Given the description of an element on the screen output the (x, y) to click on. 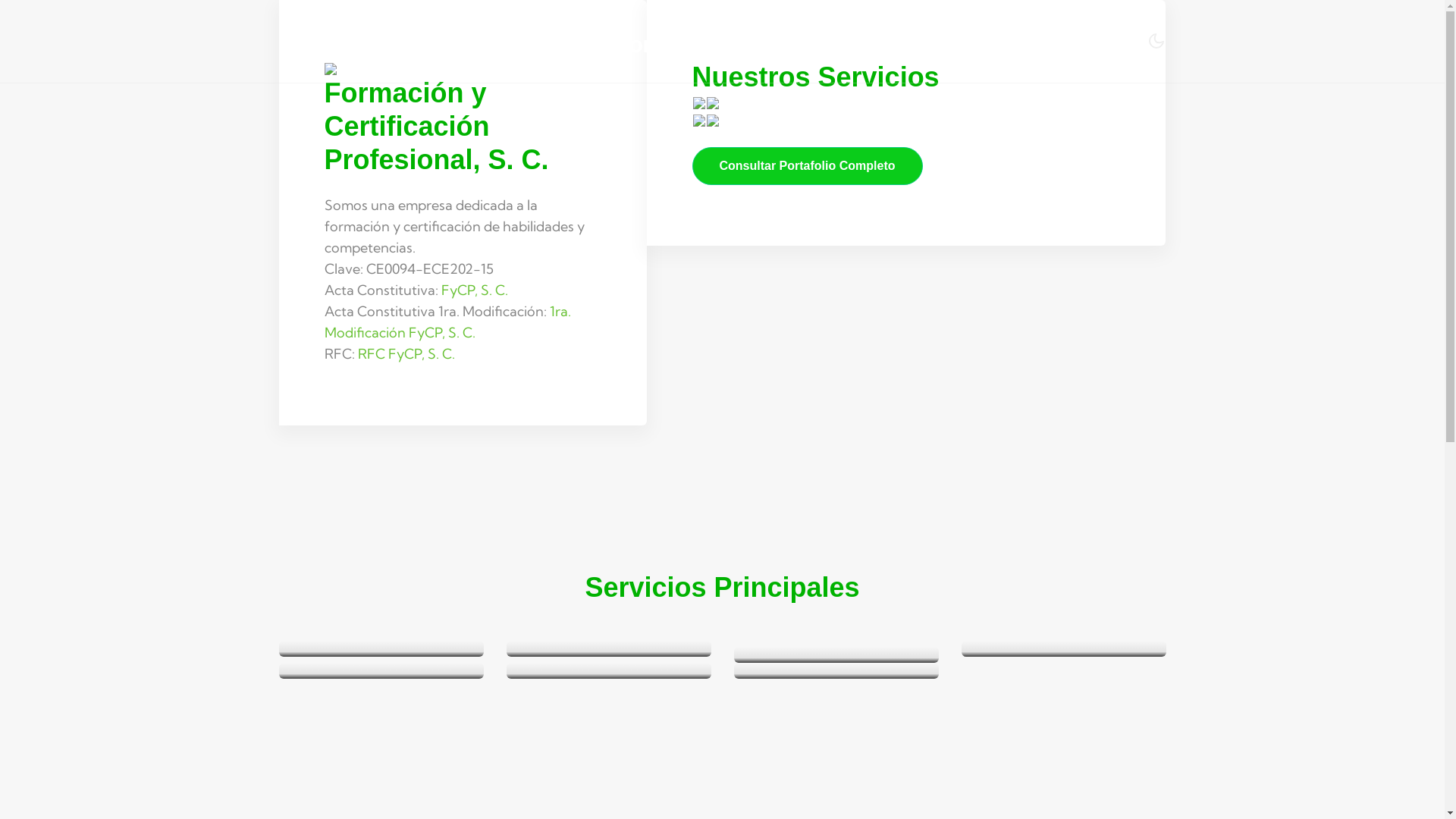
FyCP, S. C. Element type: text (474, 289)
Consultar Portafolio Completo Element type: text (806, 166)
Certificaciones Productivas Element type: text (898, 41)
Centro Universitario Element type: text (1072, 41)
CONOCER Element type: text (756, 41)
RFC FyCP, S. C. Element type: text (406, 353)
